Given the description of an element on the screen output the (x, y) to click on. 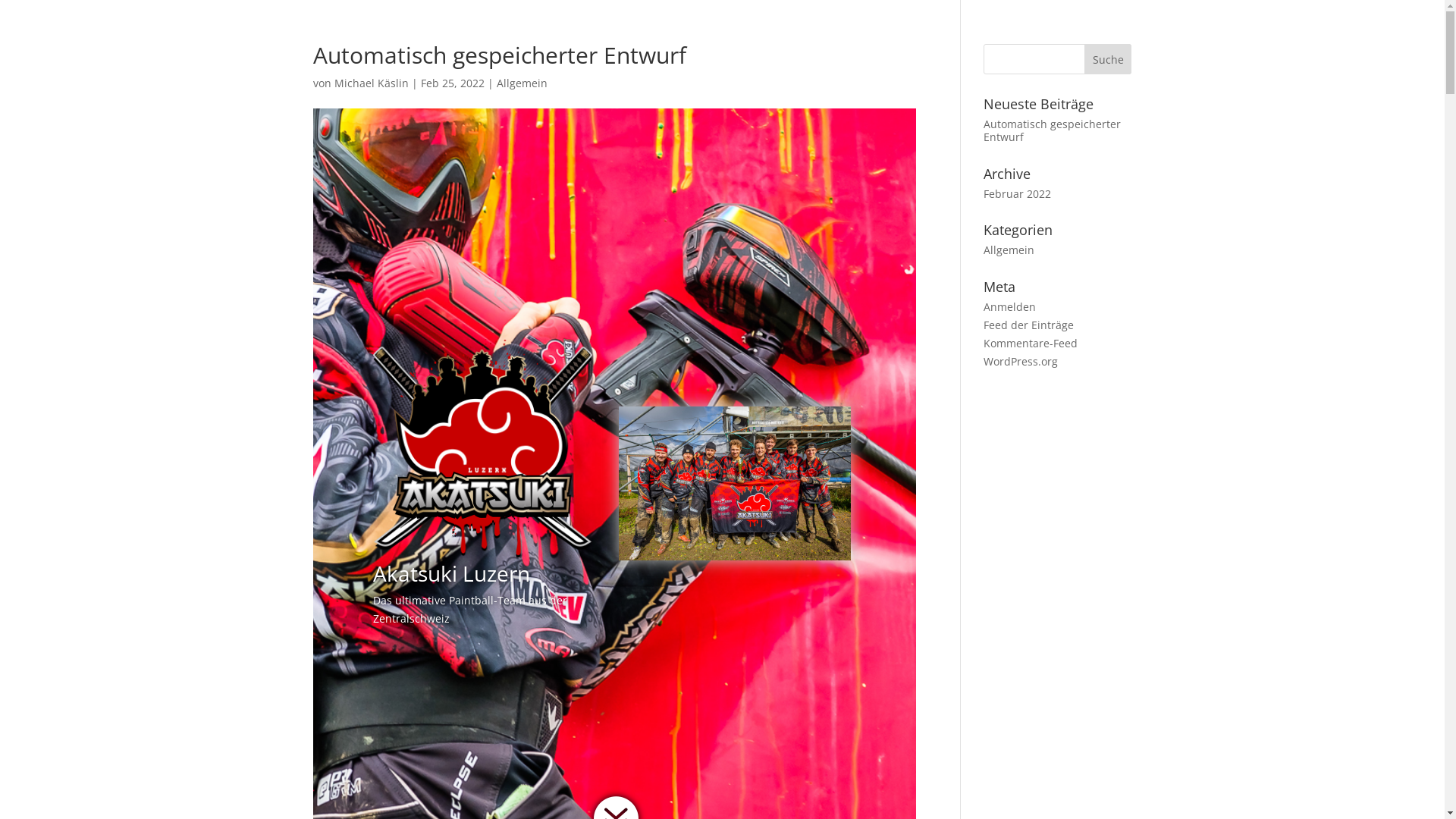
Anmelden Element type: text (1009, 306)
Allgemein Element type: text (1008, 249)
Suche Element type: text (1108, 58)
Akatsuki Luzern Element type: hover (482, 447)
WordPress.org Element type: text (1020, 361)
Automatisch gespeicherter Entwurf Element type: text (1051, 130)
Kommentare-Feed Element type: text (1030, 342)
Allgemein Element type: text (520, 82)
Februar 2022 Element type: text (1017, 193)
